Given the description of an element on the screen output the (x, y) to click on. 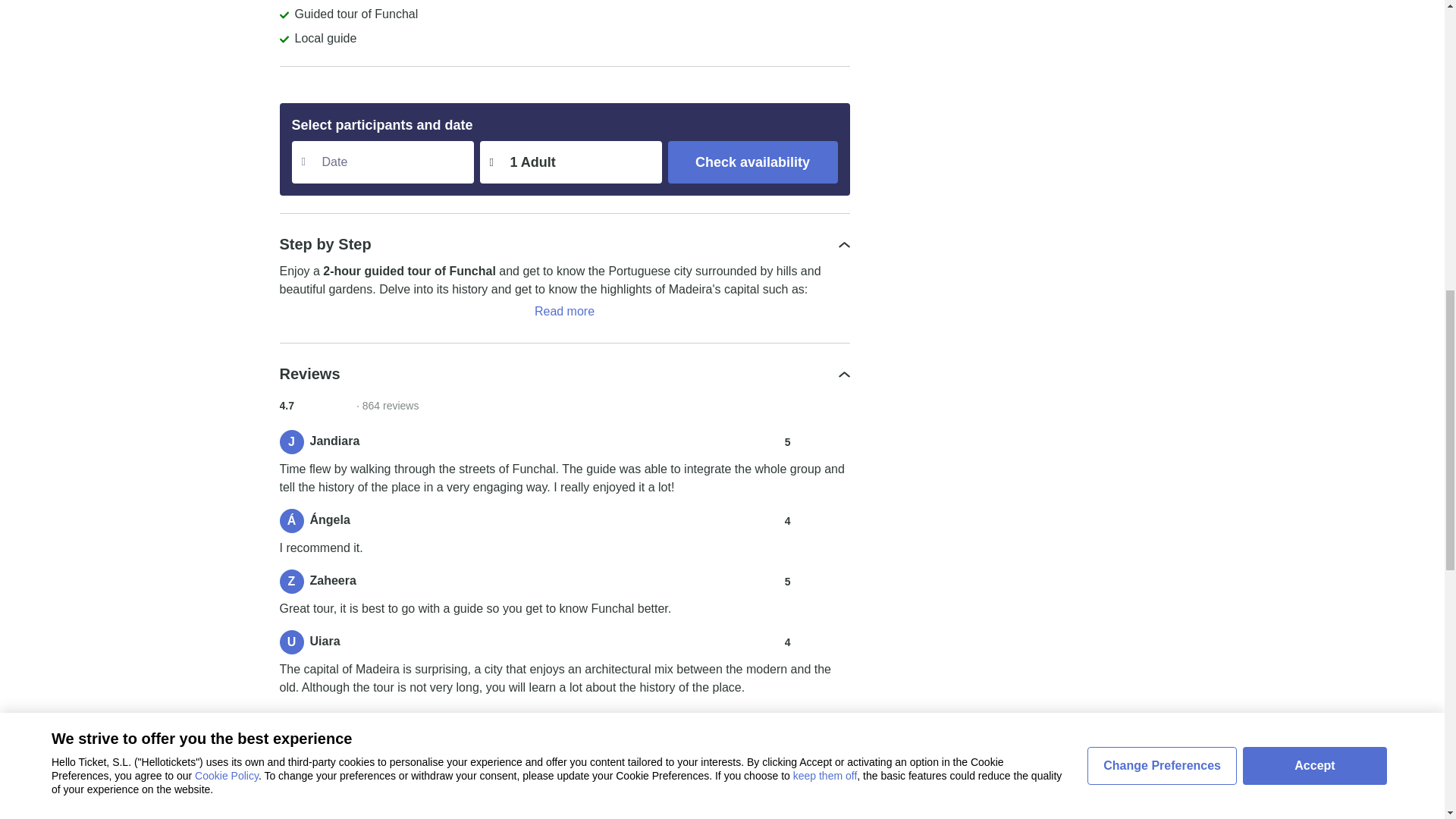
See more (563, 718)
Check availability (751, 161)
1 Adult (570, 161)
Read more (563, 311)
